Given the description of an element on the screen output the (x, y) to click on. 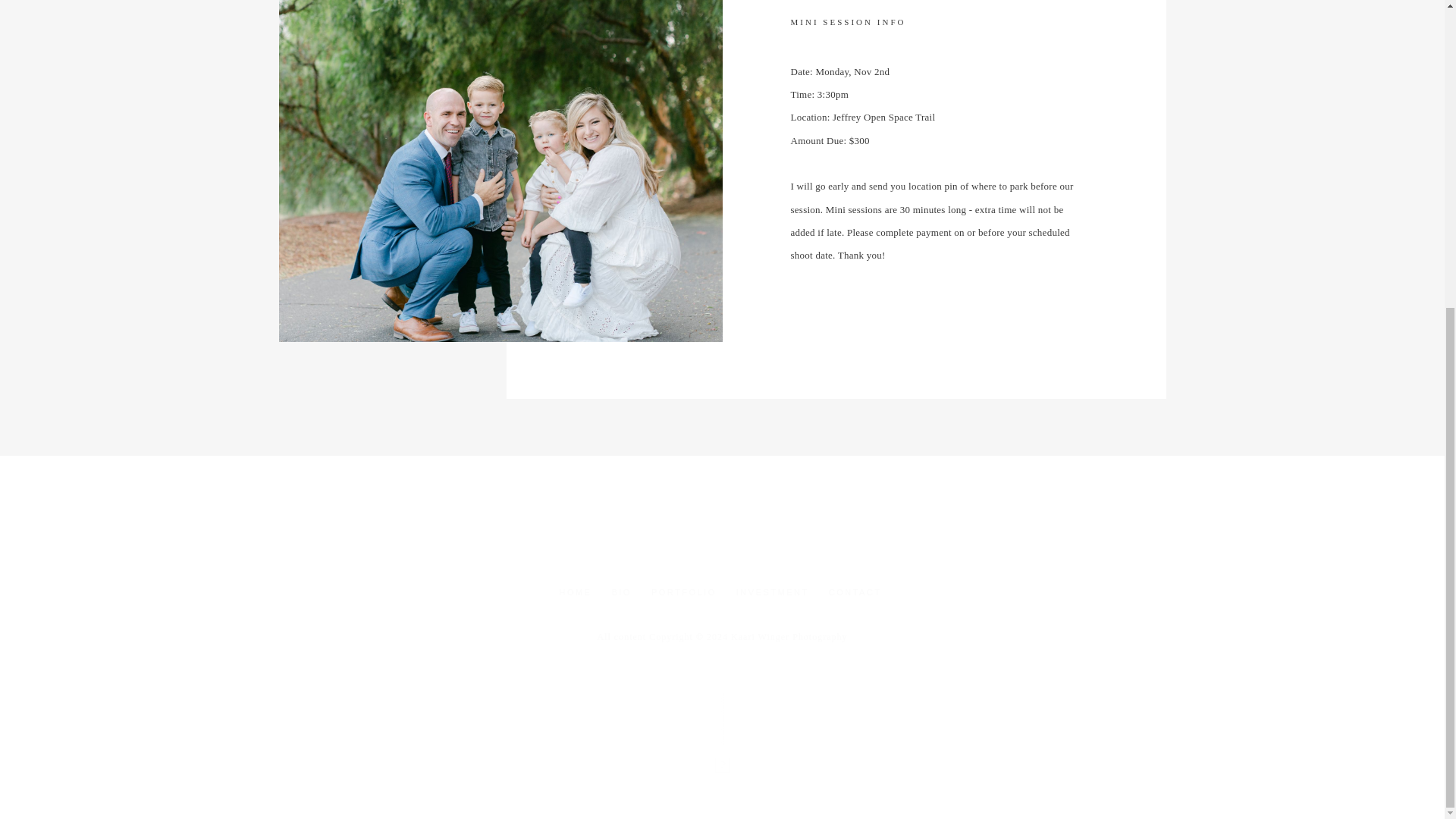
INVESTMENT (772, 592)
HOME (574, 592)
PORTFOLIO (683, 592)
CONTACT (855, 592)
BIO (621, 592)
